Given the description of an element on the screen output the (x, y) to click on. 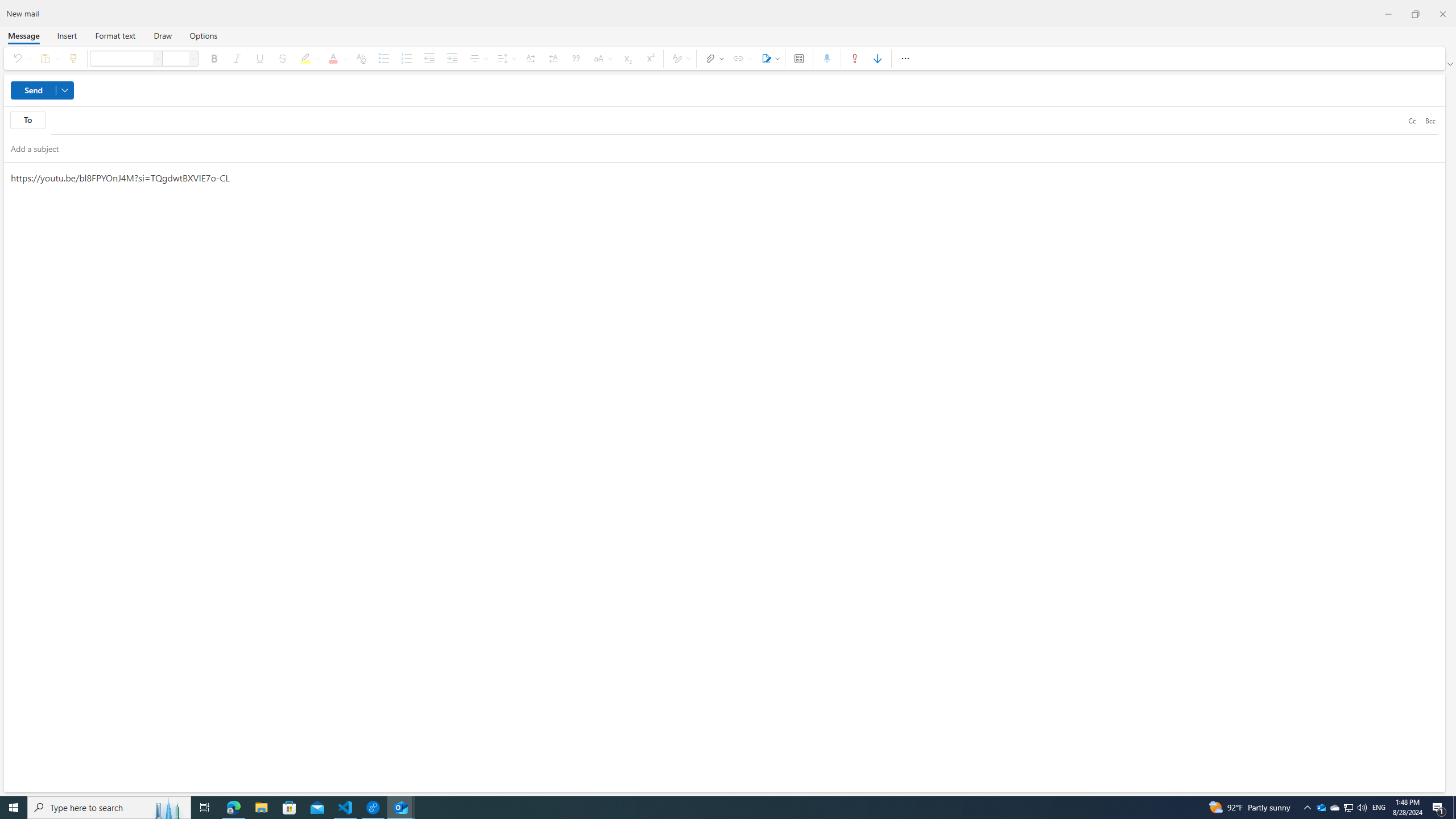
Paste (47, 58)
Strikethrough (282, 58)
Cc (1412, 120)
Bold (213, 58)
Change case (601, 58)
Ribbon display options (1450, 63)
Quote (576, 58)
Bcc (1430, 120)
Link (740, 58)
Insert (66, 35)
Font color (335, 58)
Bullets (383, 58)
Increase indent (452, 58)
Decrease indent (429, 58)
Font (157, 58)
